Given the description of an element on the screen output the (x, y) to click on. 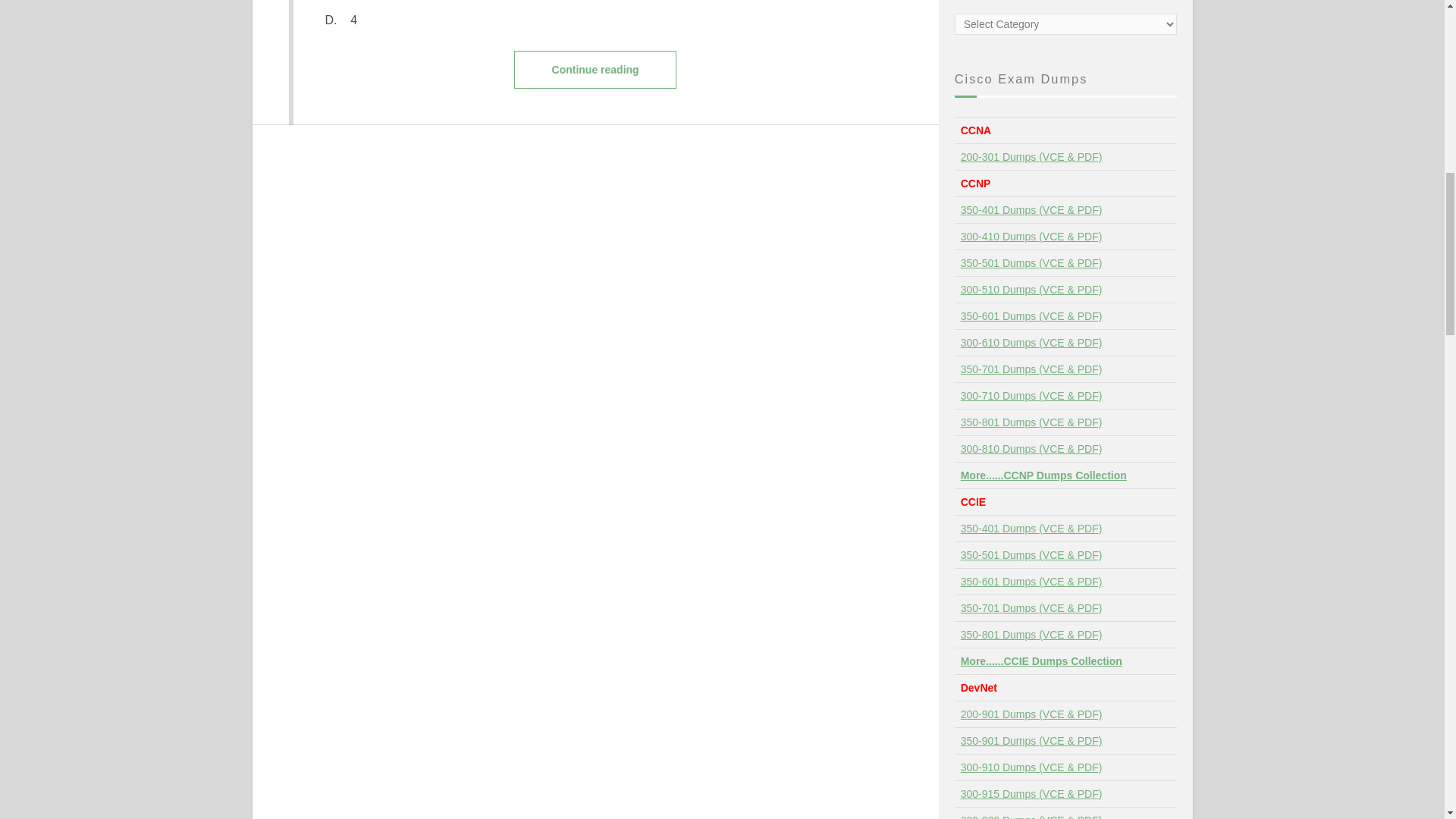
More......CCNP Dumps Collection (1043, 475)
